Given the description of an element on the screen output the (x, y) to click on. 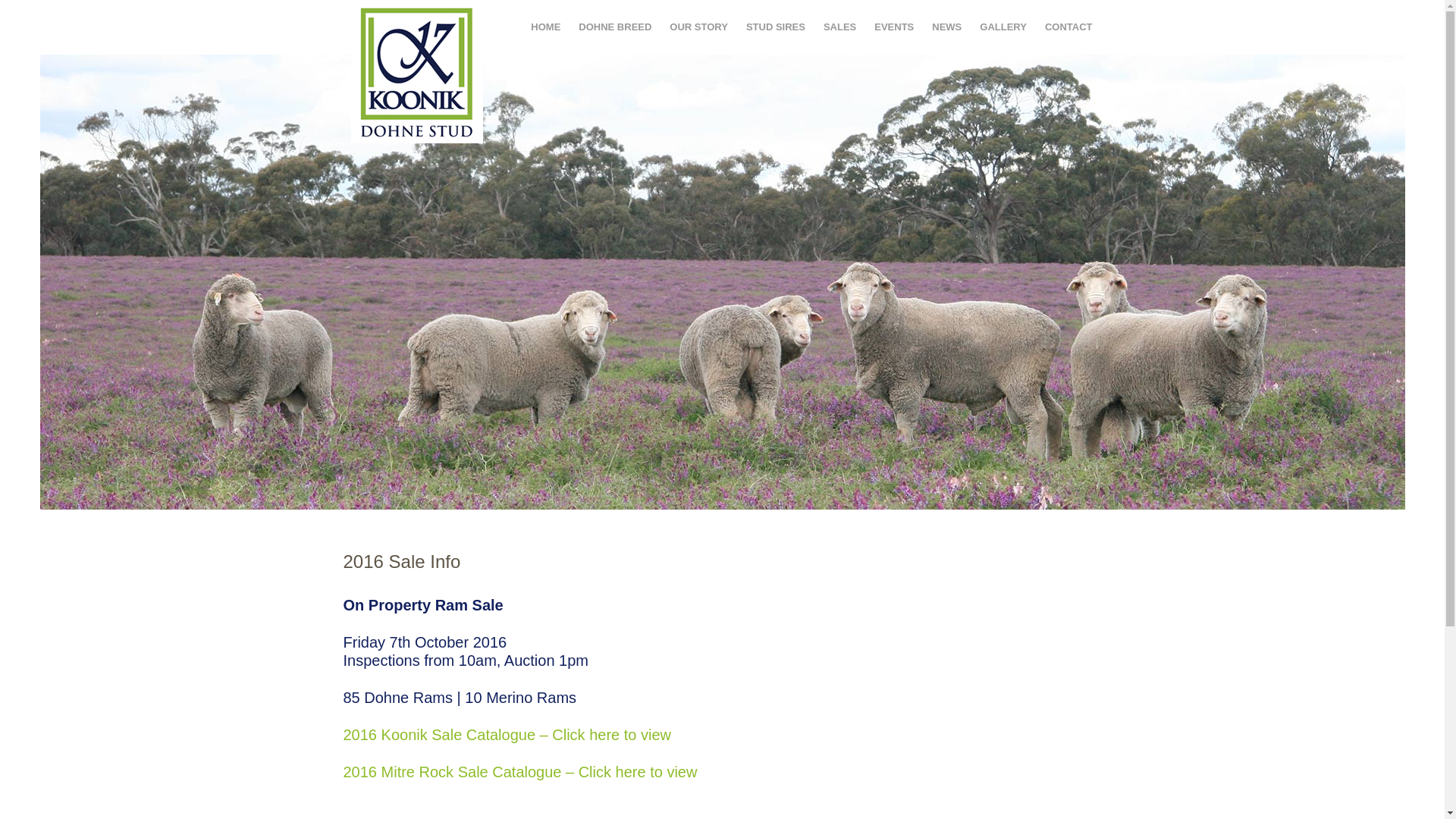
OUR STORY Element type: text (698, 27)
EVENTS Element type: text (894, 27)
CONTACT Element type: text (1068, 27)
SALES Element type: text (839, 27)
GALLERY Element type: text (1003, 27)
NEWS Element type: text (946, 27)
STUD SIRES Element type: text (775, 27)
DOHNE BREED Element type: text (614, 27)
HOME Element type: text (545, 27)
